Given the description of an element on the screen output the (x, y) to click on. 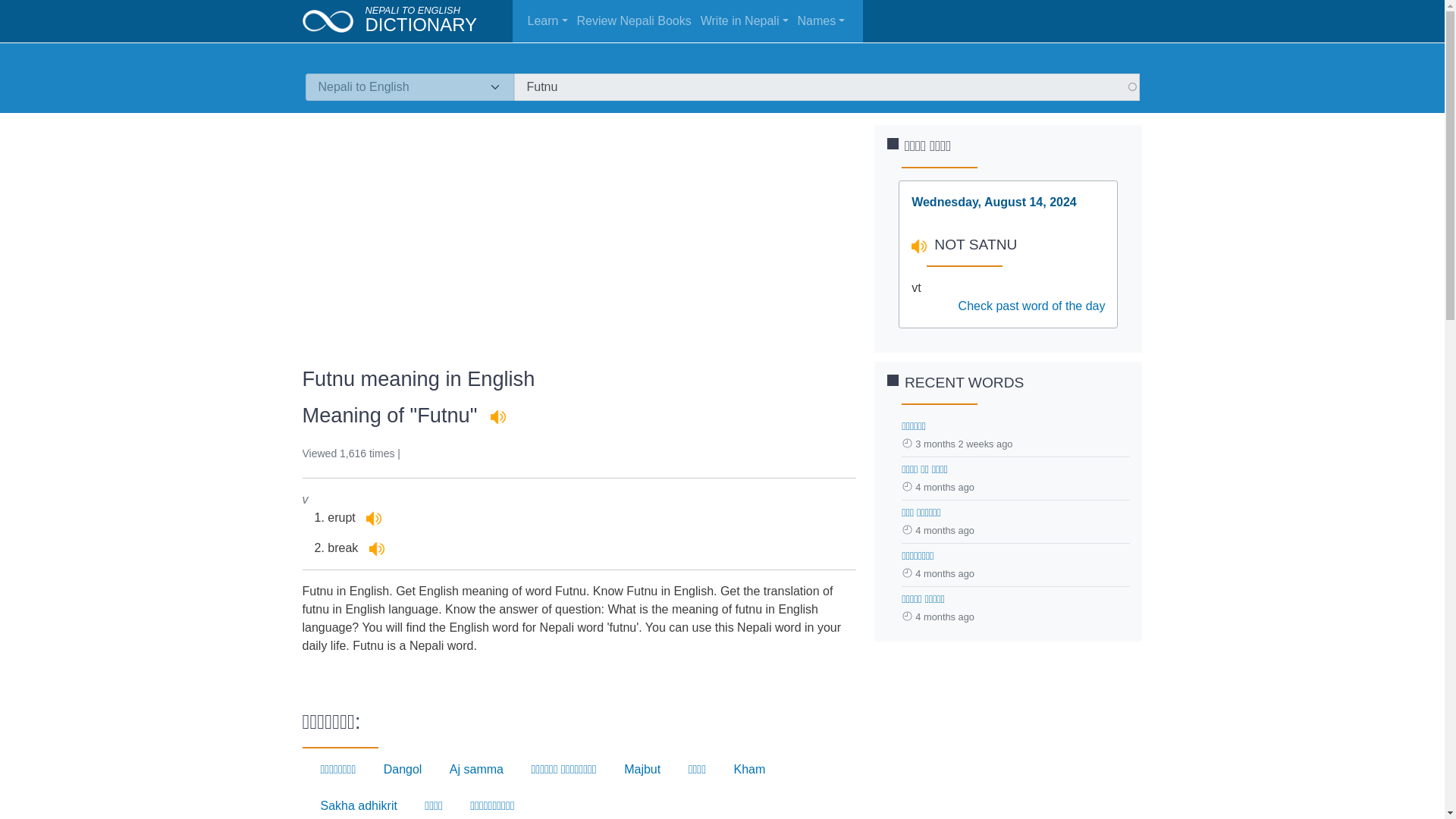
Futnu (826, 86)
DICTIONARY (421, 24)
Enter the terms you wish to search for. (826, 86)
Sakha adhikrit (358, 805)
Majbut (642, 768)
Dangol (403, 768)
Dictionary (333, 19)
Names (822, 20)
Review Nepali Books (635, 20)
Learn (548, 20)
